Given the description of an element on the screen output the (x, y) to click on. 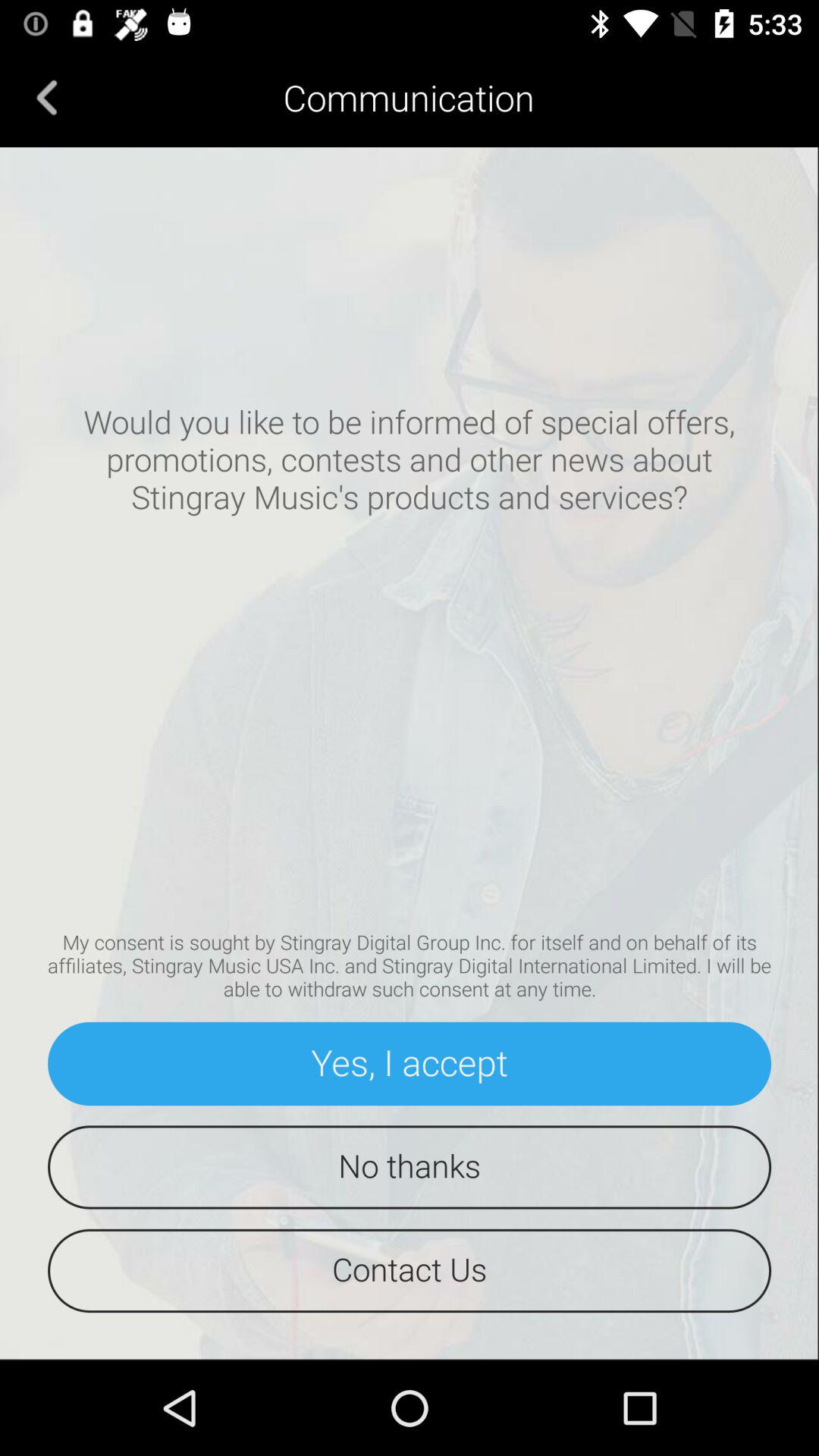
swipe to the no thanks (409, 1167)
